Given the description of an element on the screen output the (x, y) to click on. 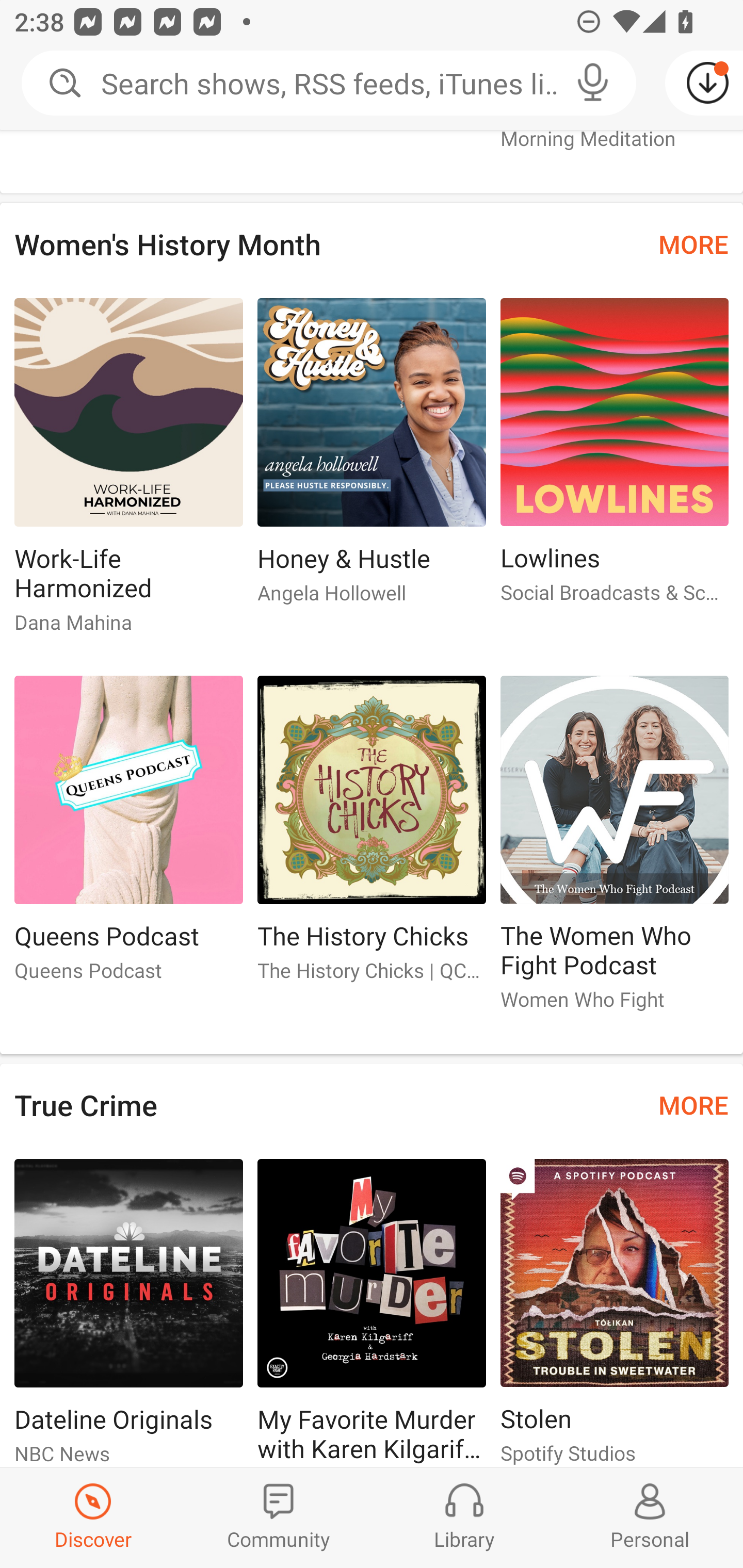
MORE (693, 244)
Honey & Hustle Honey & Hustle Angela Hollowell (371, 458)
Queens Podcast Queens Podcast Queens Podcast (128, 836)
MORE (693, 1105)
Dateline Originals Dateline Originals NBC News (128, 1312)
Stolen Stolen Spotify Studios (614, 1312)
Discover (92, 1517)
Community (278, 1517)
Library (464, 1517)
Profiles and Settings Personal (650, 1517)
